Given the description of an element on the screen output the (x, y) to click on. 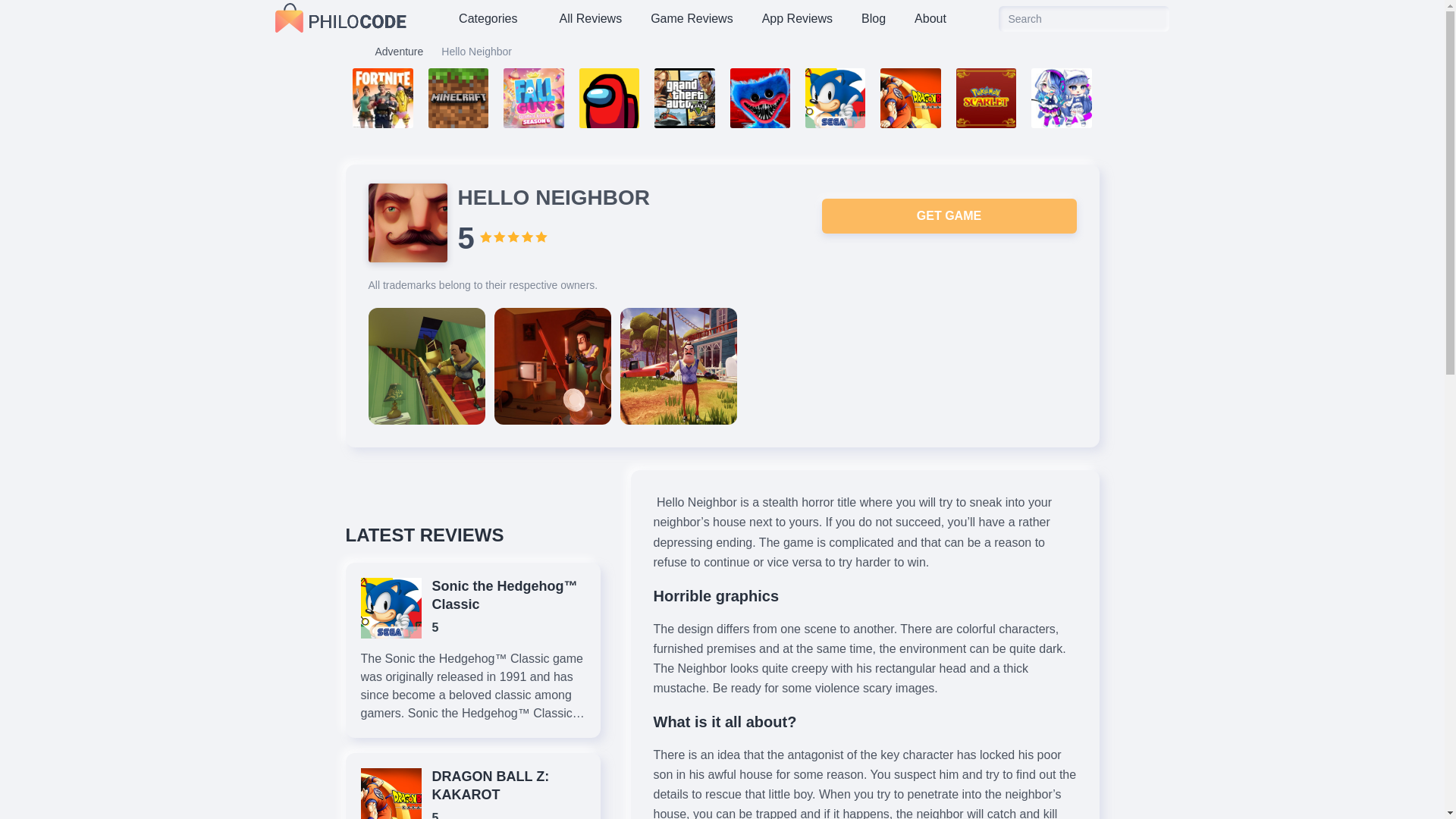
Categories (494, 19)
All Reviews (589, 19)
Adventure (398, 50)
Blog (873, 19)
Game Reviews (691, 19)
About (930, 19)
App Reviews (797, 19)
User rating 5 (513, 236)
